Given the description of an element on the screen output the (x, y) to click on. 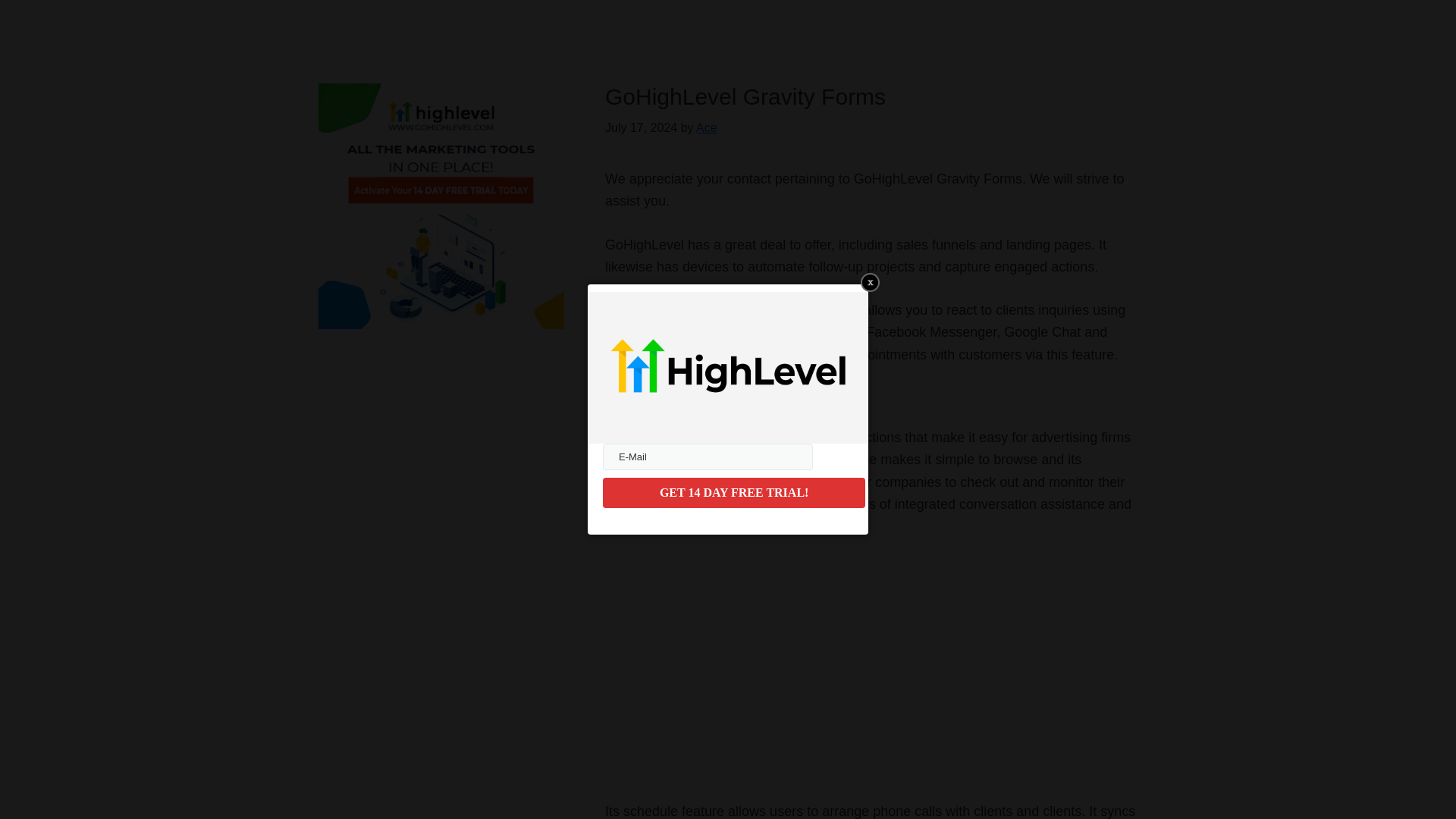
GET 14 DAY FREE TRIAL! (733, 492)
Welcome To HighLevel (794, 665)
GET 14 DAY FREE TRIAL! (733, 492)
Ace (706, 127)
